Given the description of an element on the screen output the (x, y) to click on. 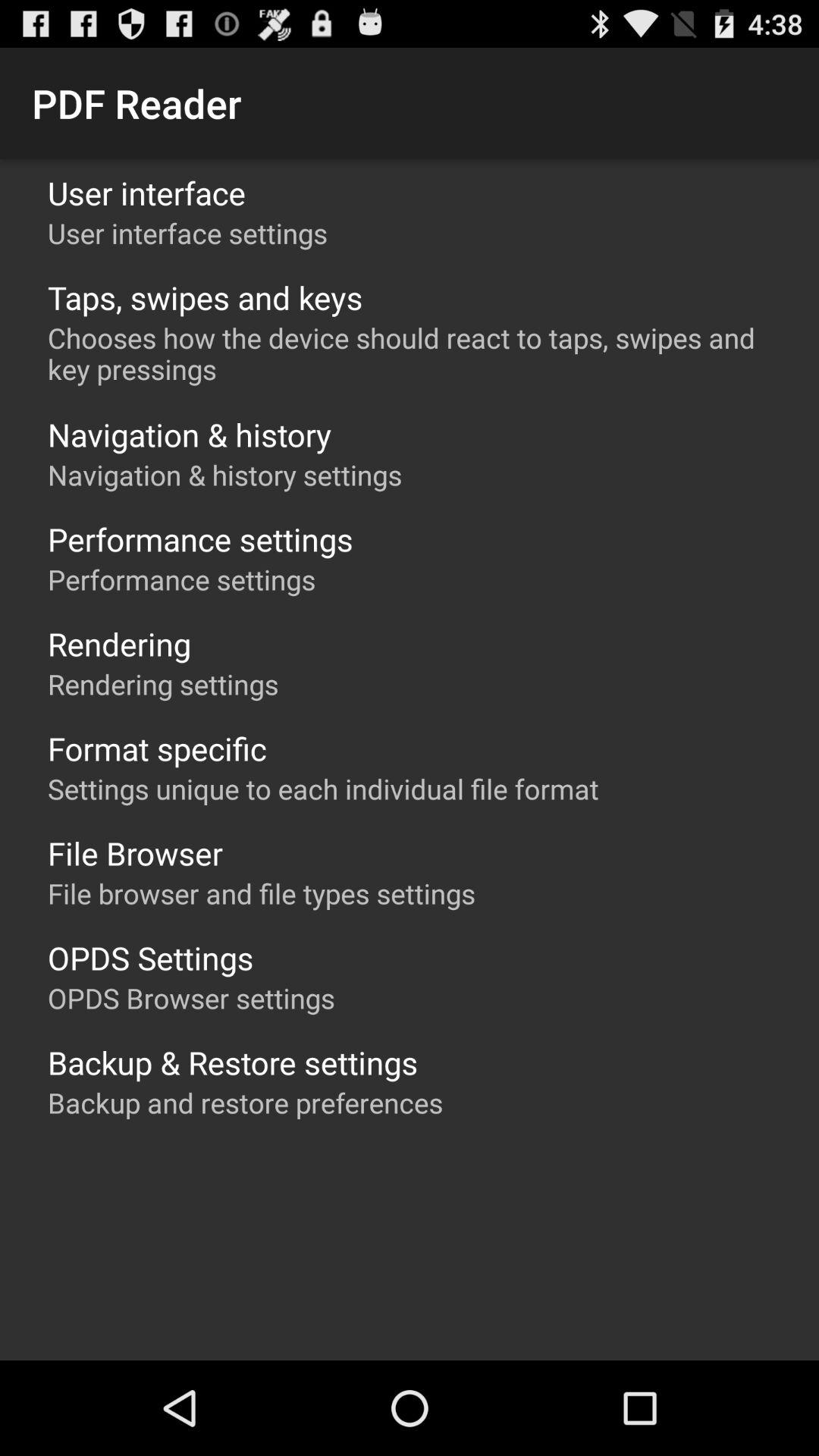
turn off icon above the settings unique to item (156, 748)
